Given the description of an element on the screen output the (x, y) to click on. 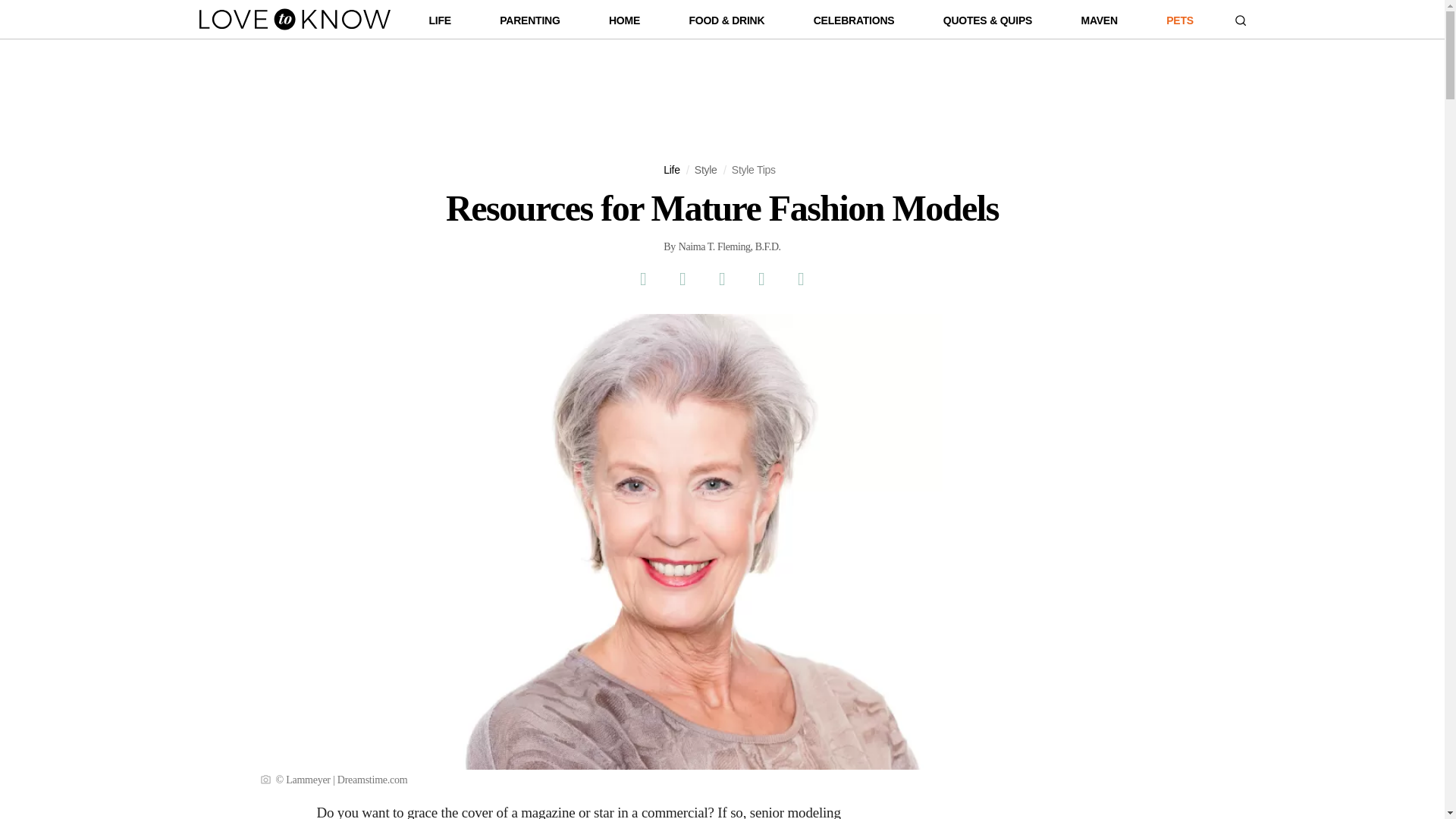
Share on Facebook (642, 278)
PARENTING (529, 23)
Naima T. Fleming, B.F.D. (729, 247)
Copy Link (800, 278)
HOME (624, 23)
Share via Email (760, 278)
Share on Pinterest (721, 278)
Share on Twitter (681, 278)
LIFE (439, 23)
